Given the description of an element on the screen output the (x, y) to click on. 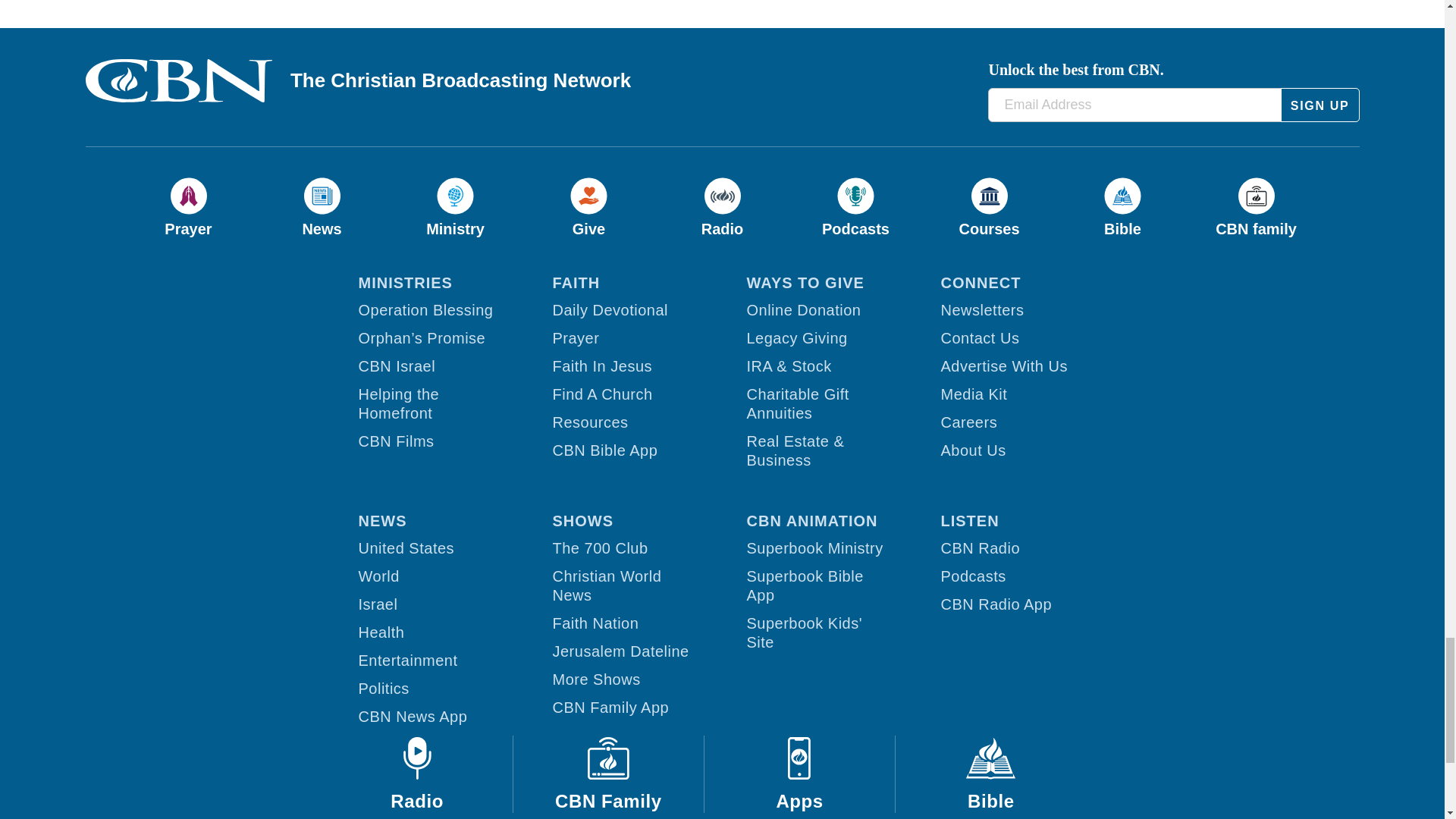
sign up (1320, 104)
